Given the description of an element on the screen output the (x, y) to click on. 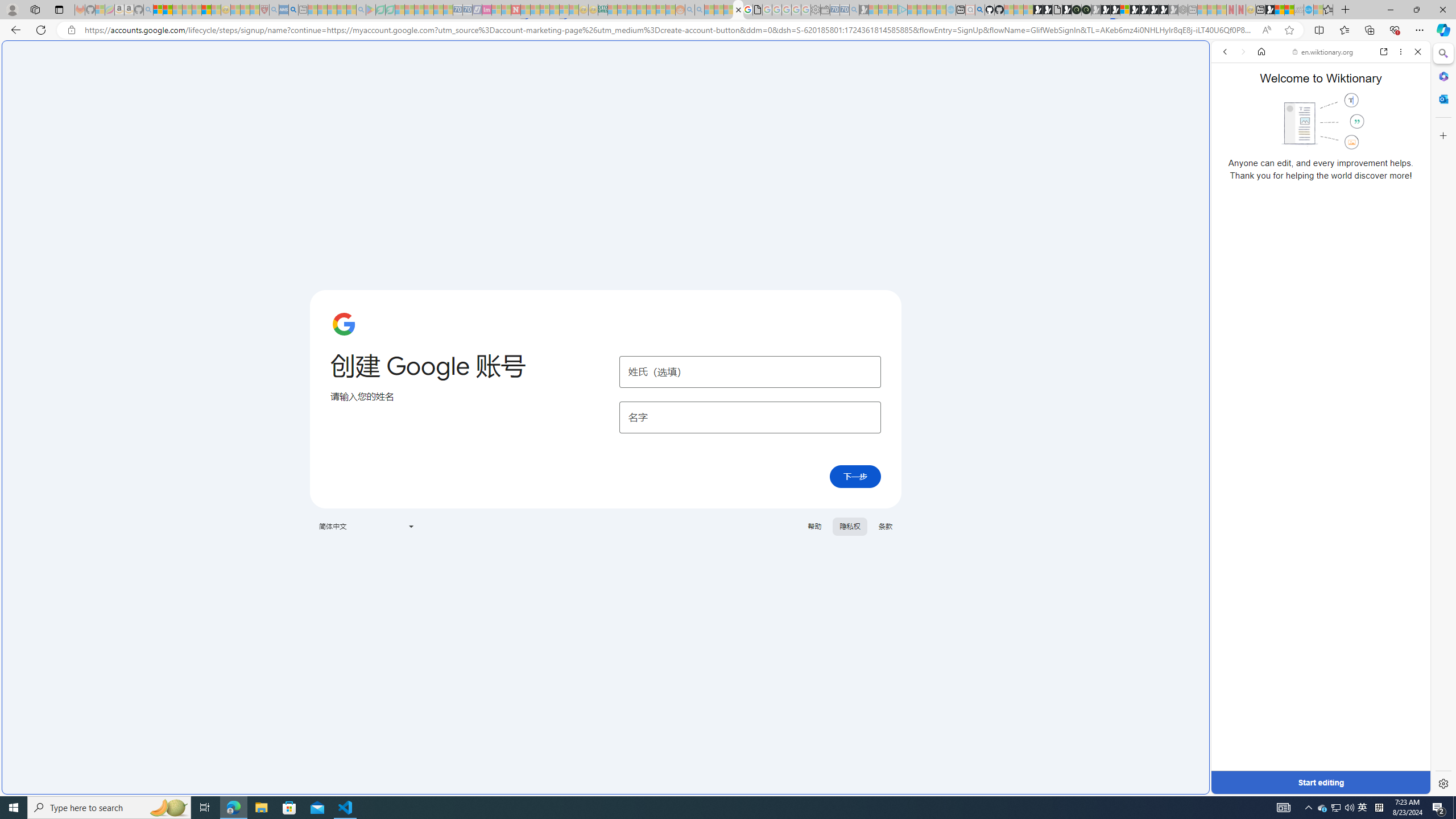
Close split screen (1208, 57)
Wiktionary (1315, 380)
Class: VfPpkd-t08AT-Bz112c-Bd00G (410, 526)
Start editing (1320, 782)
